Given the description of an element on the screen output the (x, y) to click on. 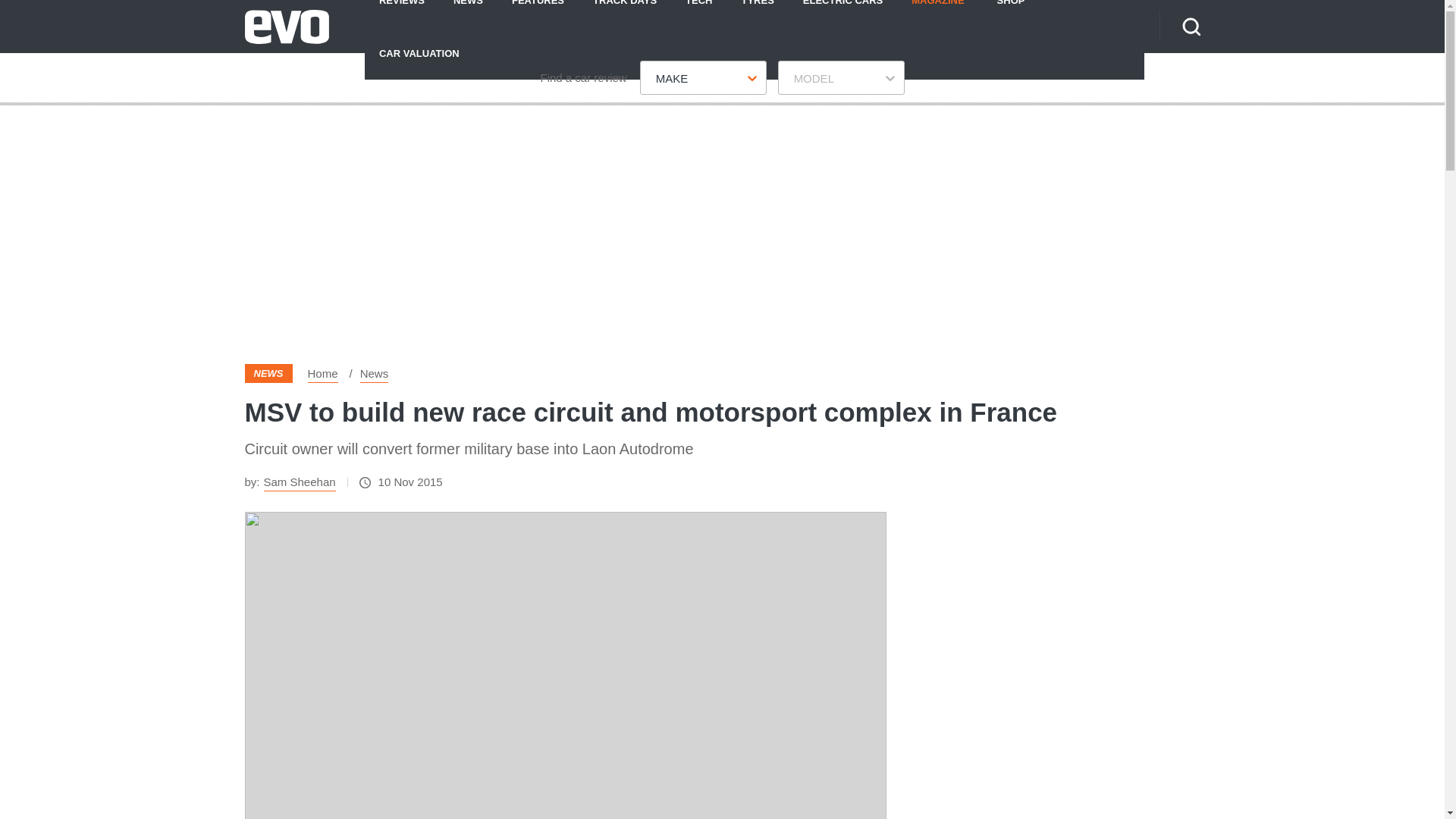
MAGAZINE (937, 13)
NEWS (468, 13)
ELECTRIC CARS (842, 13)
SHOP (1010, 13)
TECH (698, 13)
Search (1189, 26)
TRACK DAYS (624, 13)
REVIEWS (402, 13)
TYRES (756, 13)
CAR VALUATION (419, 52)
FEATURES (537, 13)
